Given the description of an element on the screen output the (x, y) to click on. 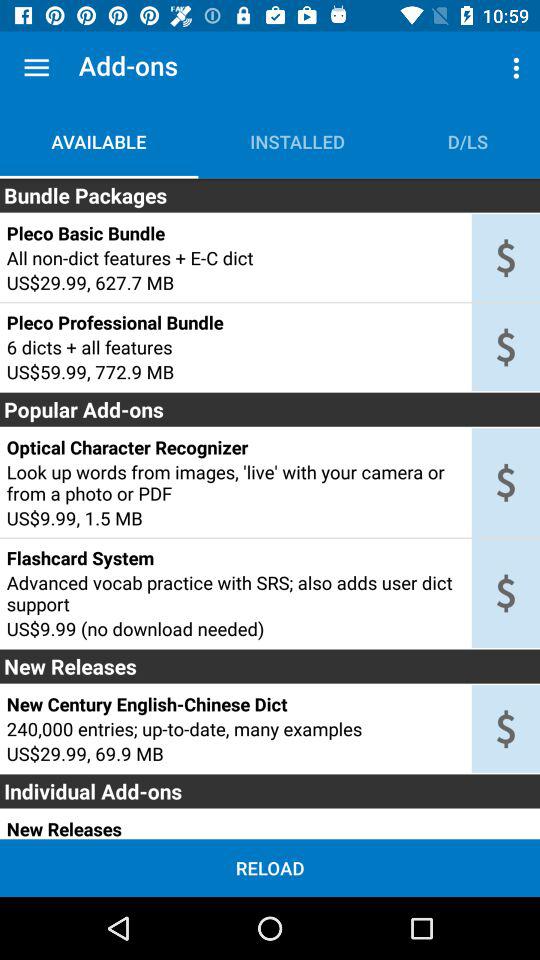
turn off item next to add-ons (36, 68)
